Given the description of an element on the screen output the (x, y) to click on. 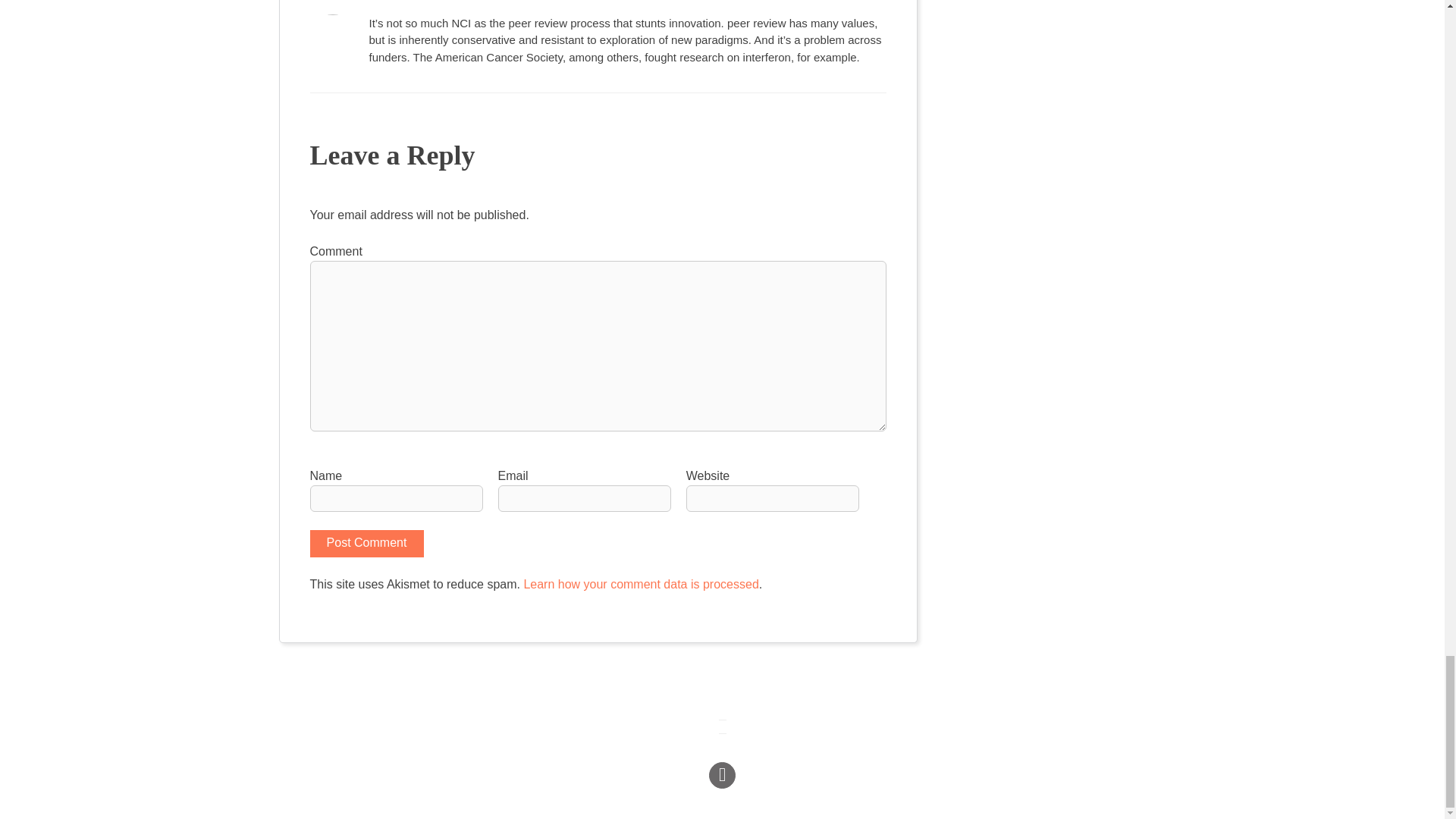
Post Comment (365, 543)
